Given the description of an element on the screen output the (x, y) to click on. 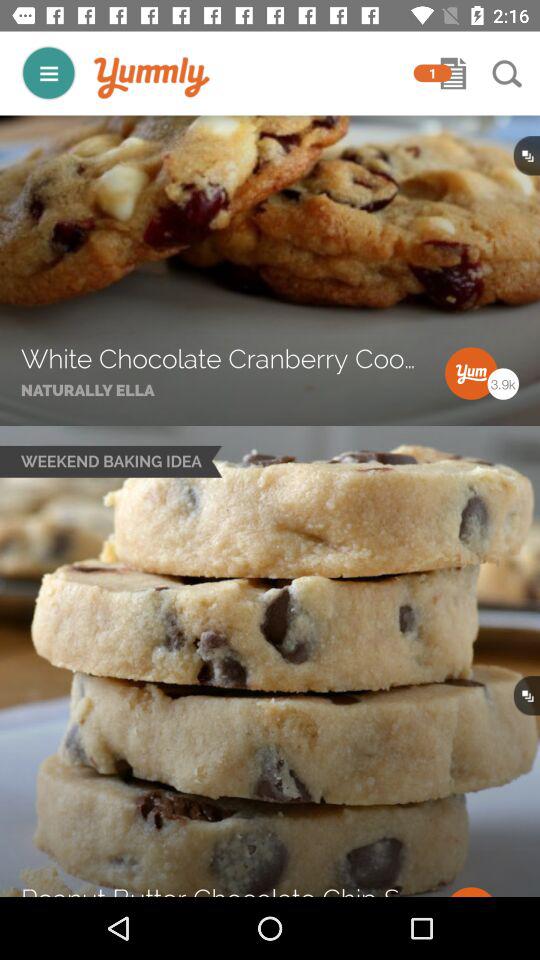
turn on the  1 (432, 73)
